Given the description of an element on the screen output the (x, y) to click on. 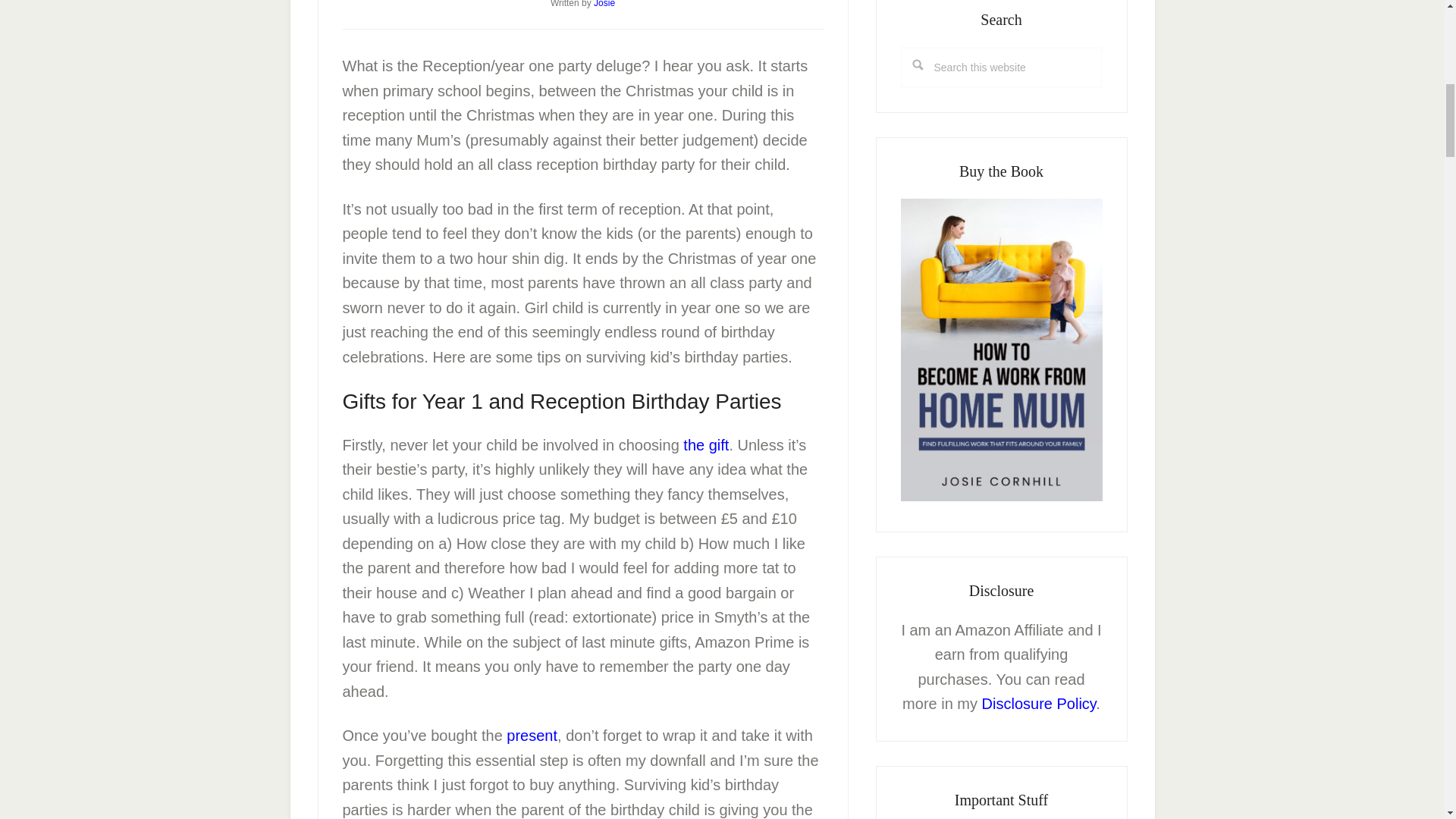
Essential Toys for 5-10 Year Olds (531, 735)
the gift (705, 444)
present (531, 735)
Josie (604, 4)
